Given the description of an element on the screen output the (x, y) to click on. 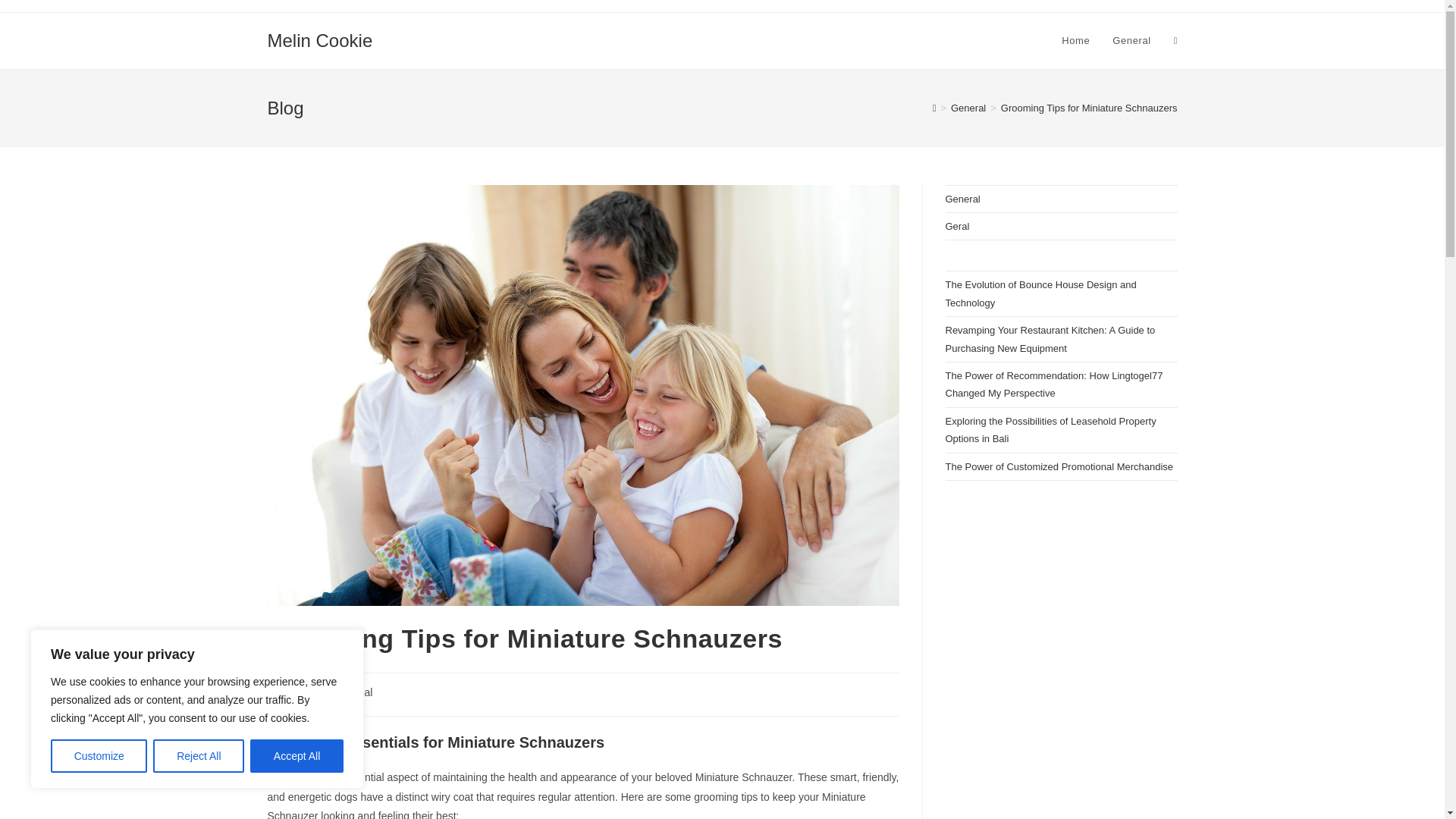
Grooming Tips for Miniature Schnauzers (1089, 107)
General (1130, 40)
General (352, 692)
Accept All (296, 756)
Home (1074, 40)
Melin Cookie (319, 40)
General (967, 107)
Reject All (198, 756)
Customize (98, 756)
